Given the description of an element on the screen output the (x, y) to click on. 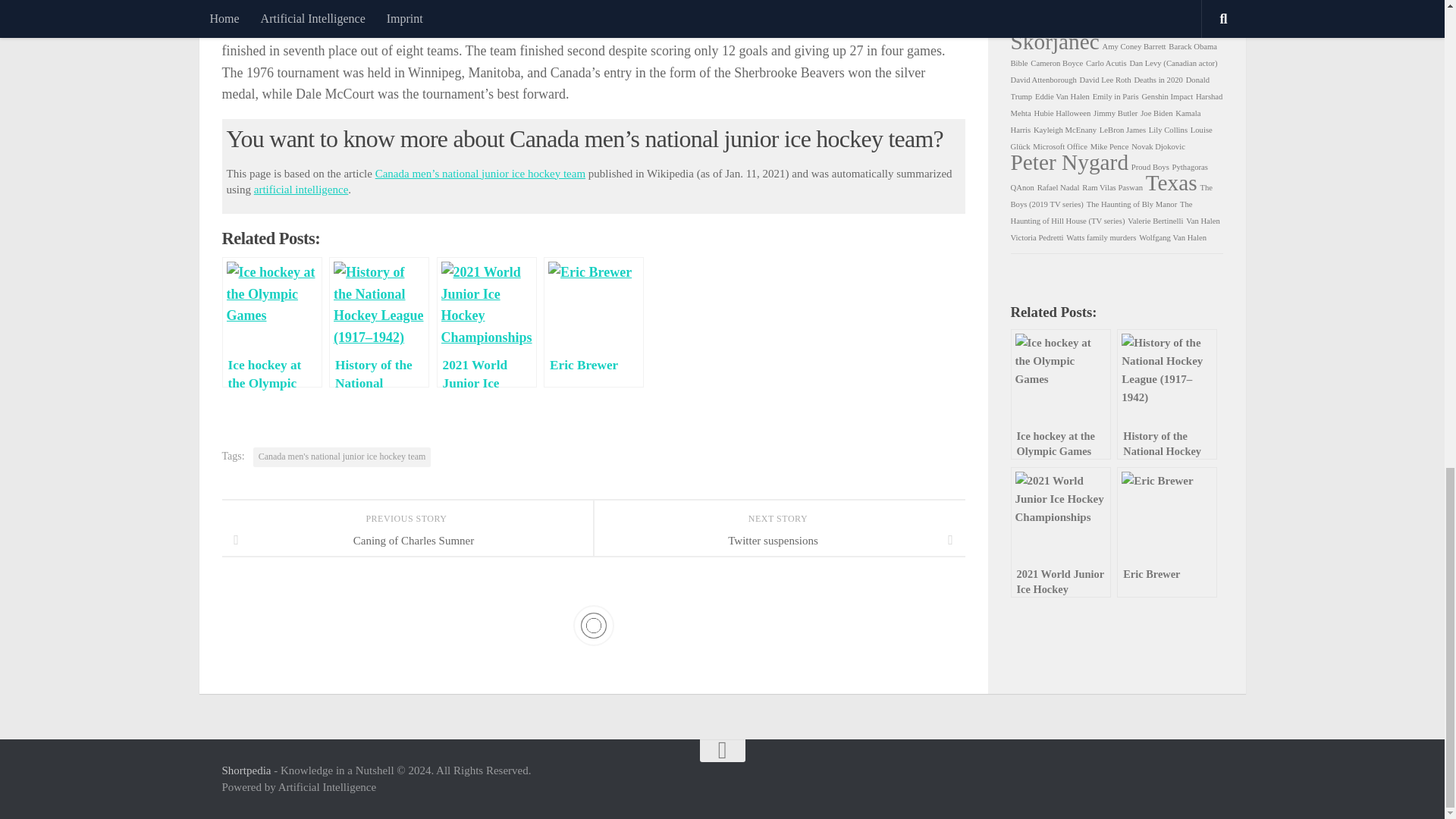
artificial intelligence (301, 189)
Canada men's national junior ice hockey team (341, 456)
Caning of Charles Sumner (406, 540)
Twitter suspensions (777, 540)
